Given the description of an element on the screen output the (x, y) to click on. 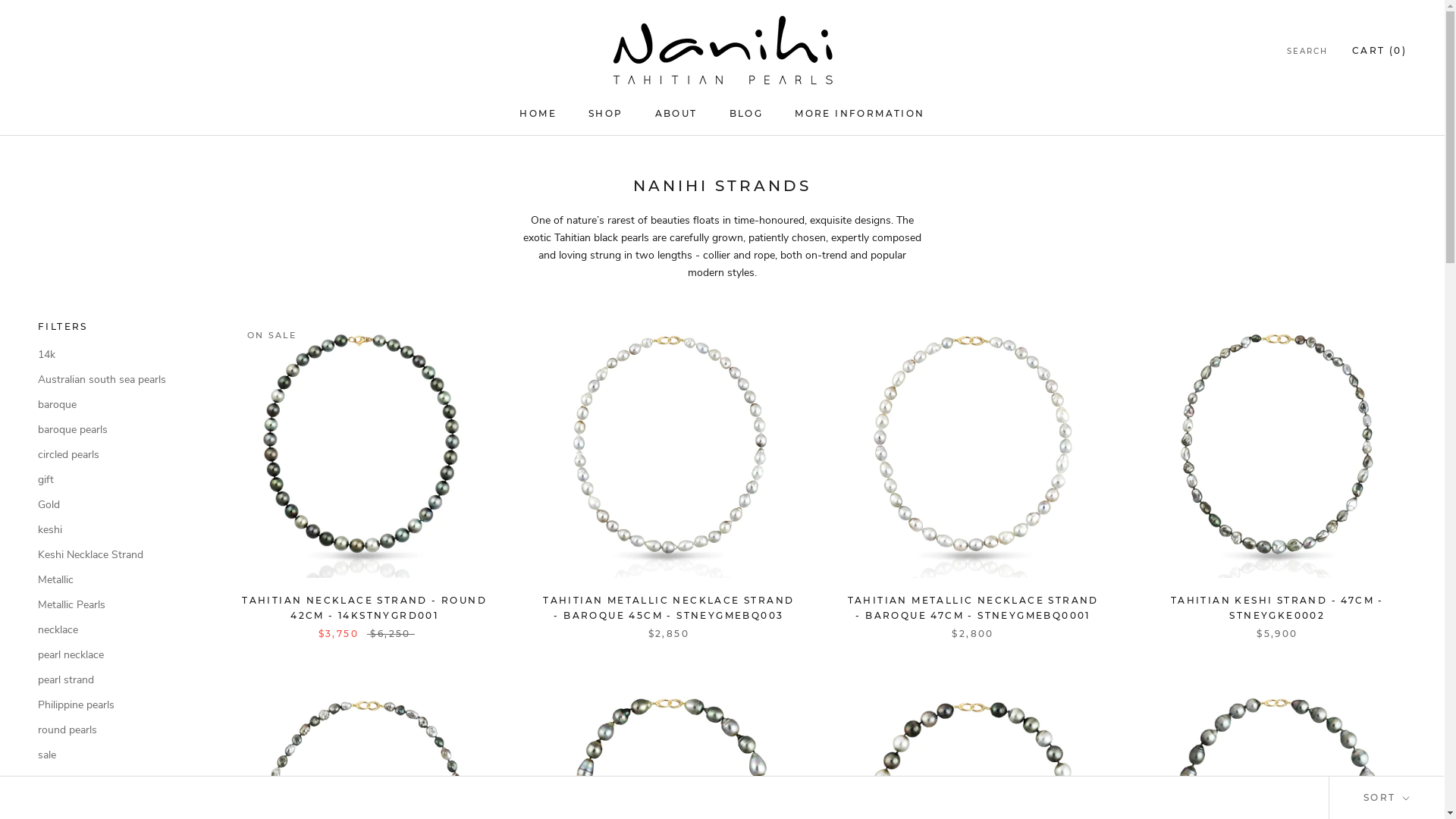
SHOP Element type: text (605, 113)
BLOG
BLOG Element type: text (746, 113)
HOME
HOME Element type: text (537, 113)
sale Element type: text (113, 754)
semi baroque Element type: text (113, 779)
ABOUT
ABOUT Element type: text (676, 113)
FILTERS Element type: text (113, 326)
Gold Element type: text (113, 504)
keshi Element type: text (113, 529)
SEARCH Element type: text (1306, 51)
Metallic Element type: text (113, 579)
Metallic Pearls Element type: text (113, 604)
baroque Element type: text (113, 404)
South sea pearls Element type: text (113, 804)
TAHITIAN KESHI STRAND - 47CM - STNEYGKE0002 Element type: text (1276, 607)
circled pearls Element type: text (113, 454)
pearl strand Element type: text (113, 679)
round pearls Element type: text (113, 729)
CART (0) Element type: text (1379, 50)
baroque pearls Element type: text (113, 429)
pearl necklace Element type: text (113, 654)
Australian south sea pearls Element type: text (113, 379)
14k Element type: text (113, 354)
necklace Element type: text (113, 629)
MORE INFORMATION Element type: text (859, 113)
TAHITIAN NECKLACE STRAND - ROUND 42CM - 14KSTNYGRD001 Element type: text (363, 607)
Keshi Necklace Strand Element type: text (113, 554)
gift Element type: text (113, 479)
Philippine pearls Element type: text (113, 704)
